Given the description of an element on the screen output the (x, y) to click on. 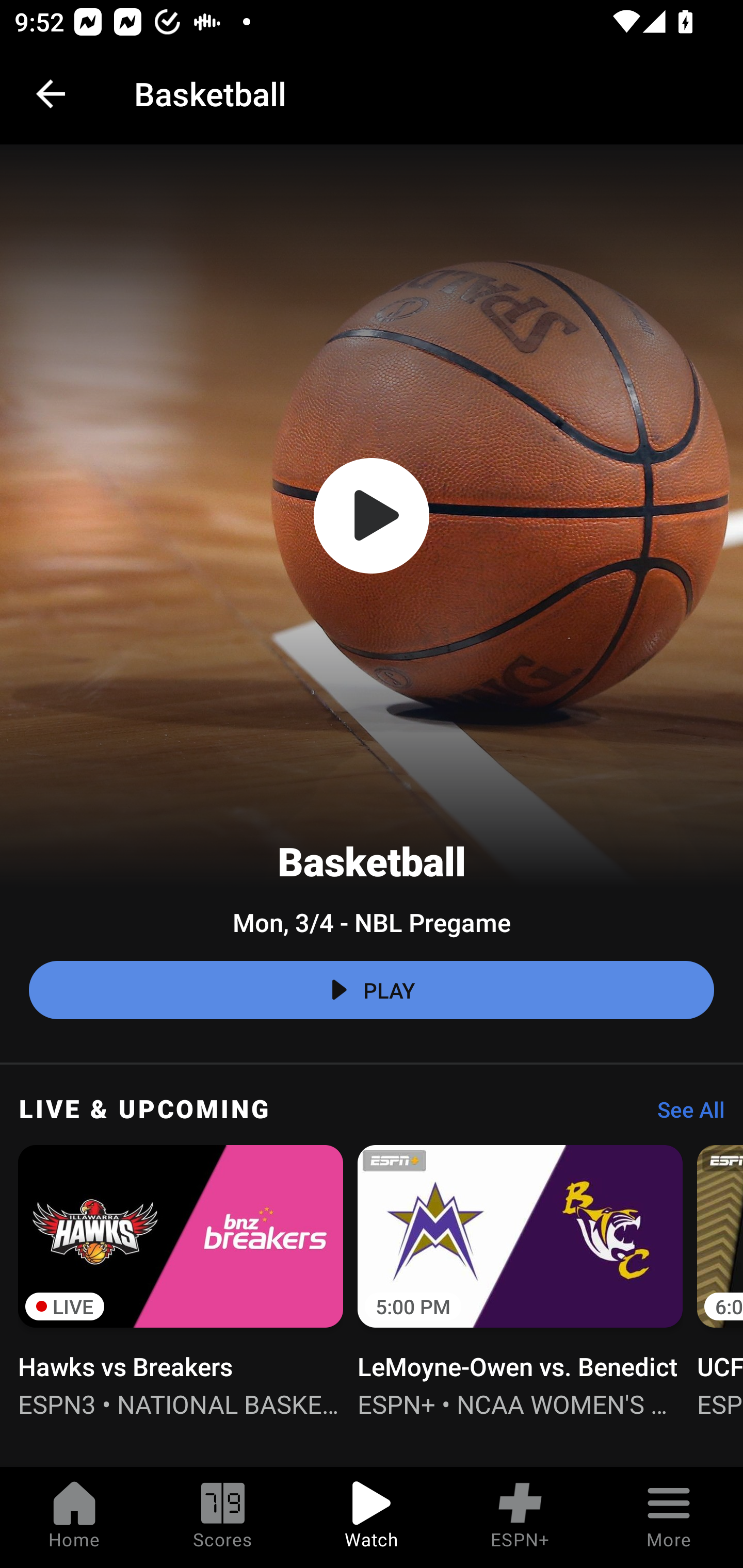
 (371, 515)
PLAY (371, 990)
See All (683, 1114)
Home (74, 1517)
Scores (222, 1517)
ESPN+ (519, 1517)
More (668, 1517)
